Given the description of an element on the screen output the (x, y) to click on. 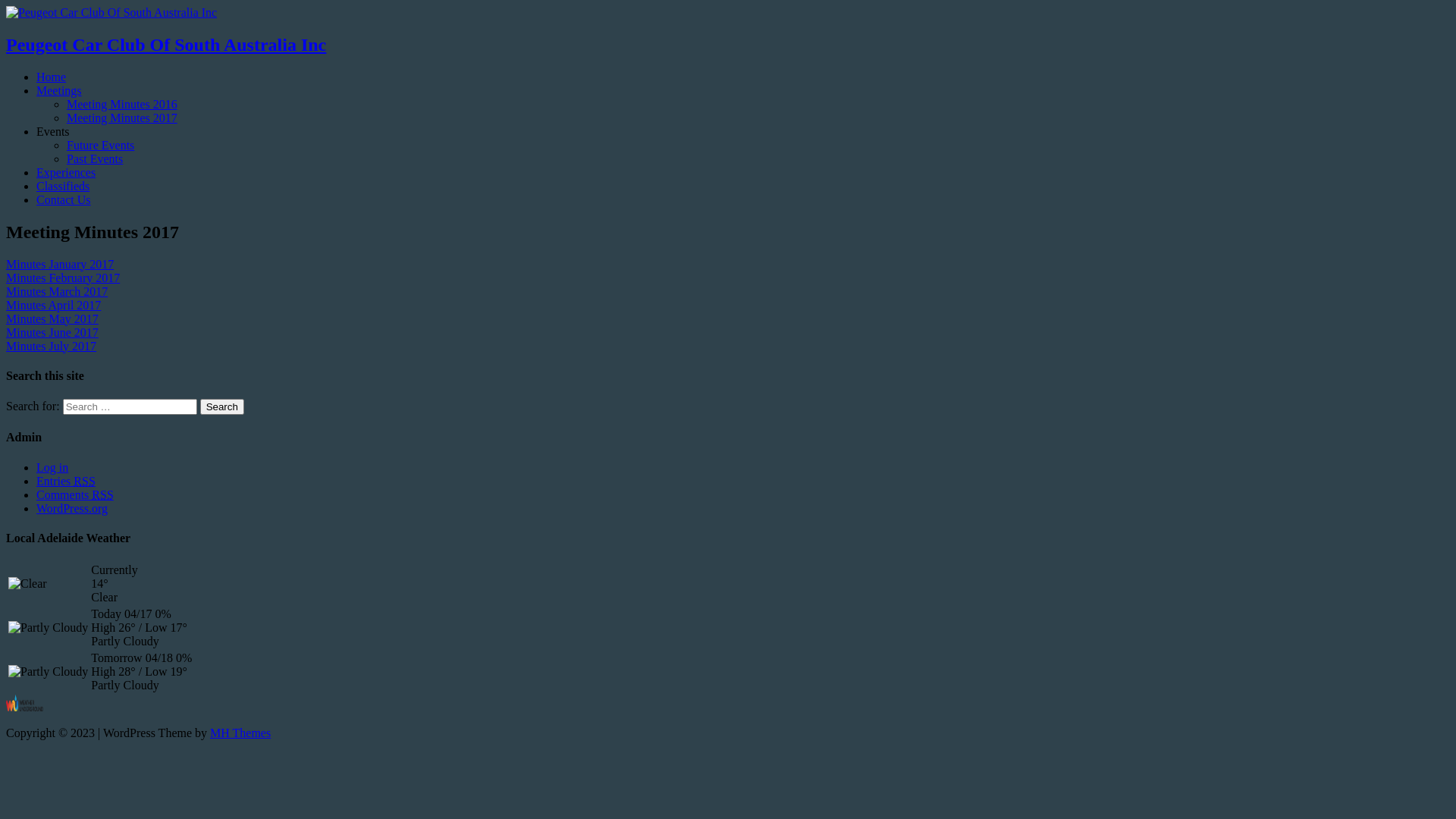
Search Element type: text (222, 406)
Minutes June 2017 Element type: text (52, 332)
Meeting Minutes 2017 Element type: text (121, 117)
Meetings Element type: text (58, 90)
Minutes January 2017 Element type: text (59, 263)
Minutes April 2017 Element type: text (53, 304)
Minutes February 2017 Element type: text (62, 277)
Meeting Minutes 2016 Element type: text (121, 103)
Minutes May 2017 Element type: text (52, 318)
Entries RSS Element type: text (65, 480)
Comments RSS Element type: text (74, 494)
Home Element type: text (50, 76)
Minutes March 2017 Element type: text (56, 291)
Events Element type: text (52, 131)
Classifieds Element type: text (62, 185)
WordPress.org Element type: text (71, 508)
Log in Element type: text (52, 467)
Peugeot Car Club Of South Australia Inc Element type: text (727, 44)
Past Events Element type: text (94, 158)
MH Themes Element type: text (240, 732)
Peugeot Car Club Of South Australia Inc Element type: hover (111, 12)
Minutes July 2017 Element type: text (51, 345)
View the Adelaide forecast on Wunderground.com Element type: hover (24, 706)
Experiences Element type: text (65, 172)
Future Events Element type: text (100, 144)
Contact Us Element type: text (63, 199)
